Given the description of an element on the screen output the (x, y) to click on. 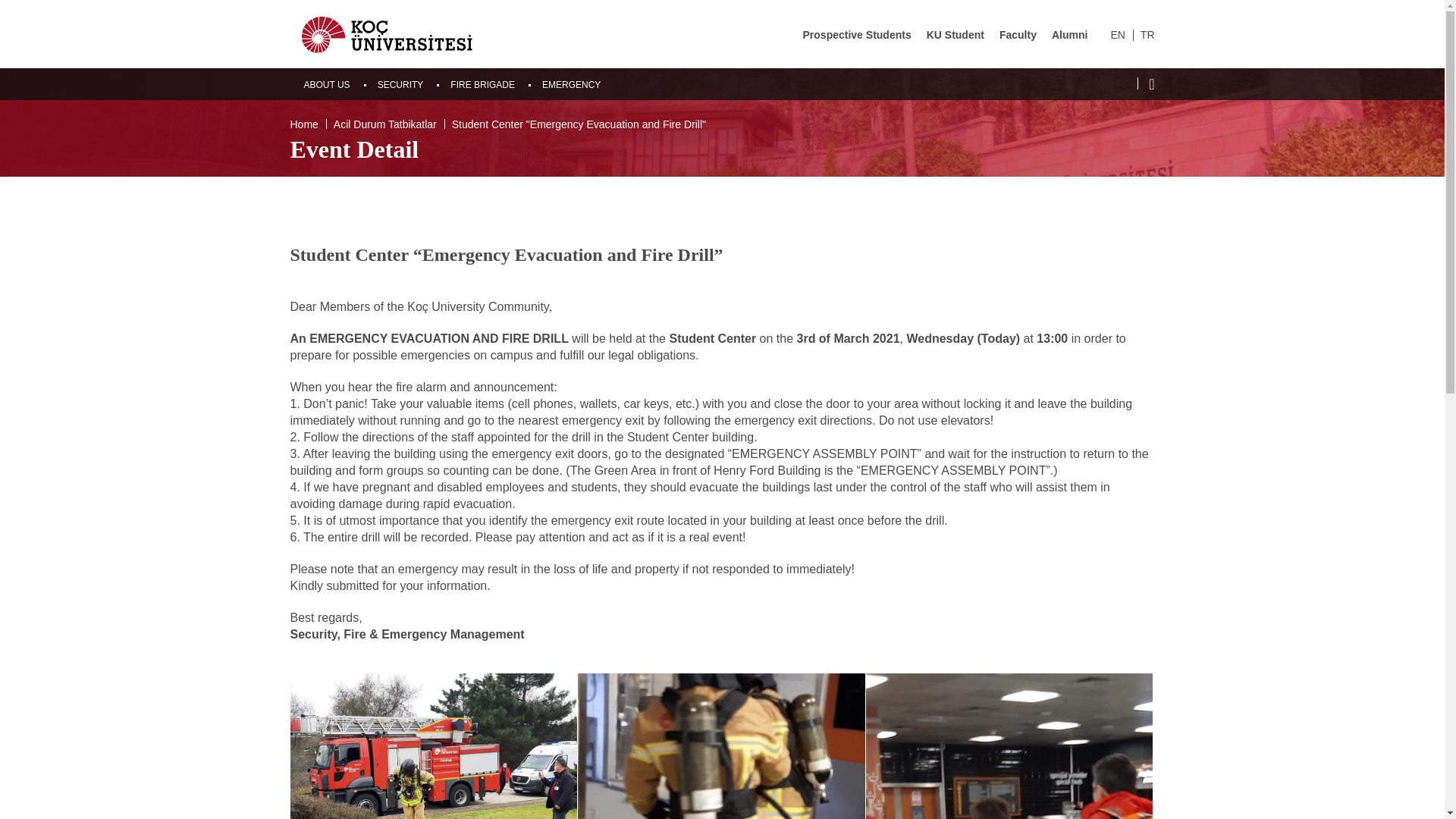
FIRE BRIGADE (482, 84)
TR (1147, 34)
Prospective Students (857, 34)
KU (386, 33)
Faculty (1017, 34)
EN (1116, 34)
SECURITY (400, 84)
KU Student (955, 34)
EMERGENCY (570, 84)
ABOUT US (325, 84)
Alumni (1069, 34)
